Given the description of an element on the screen output the (x, y) to click on. 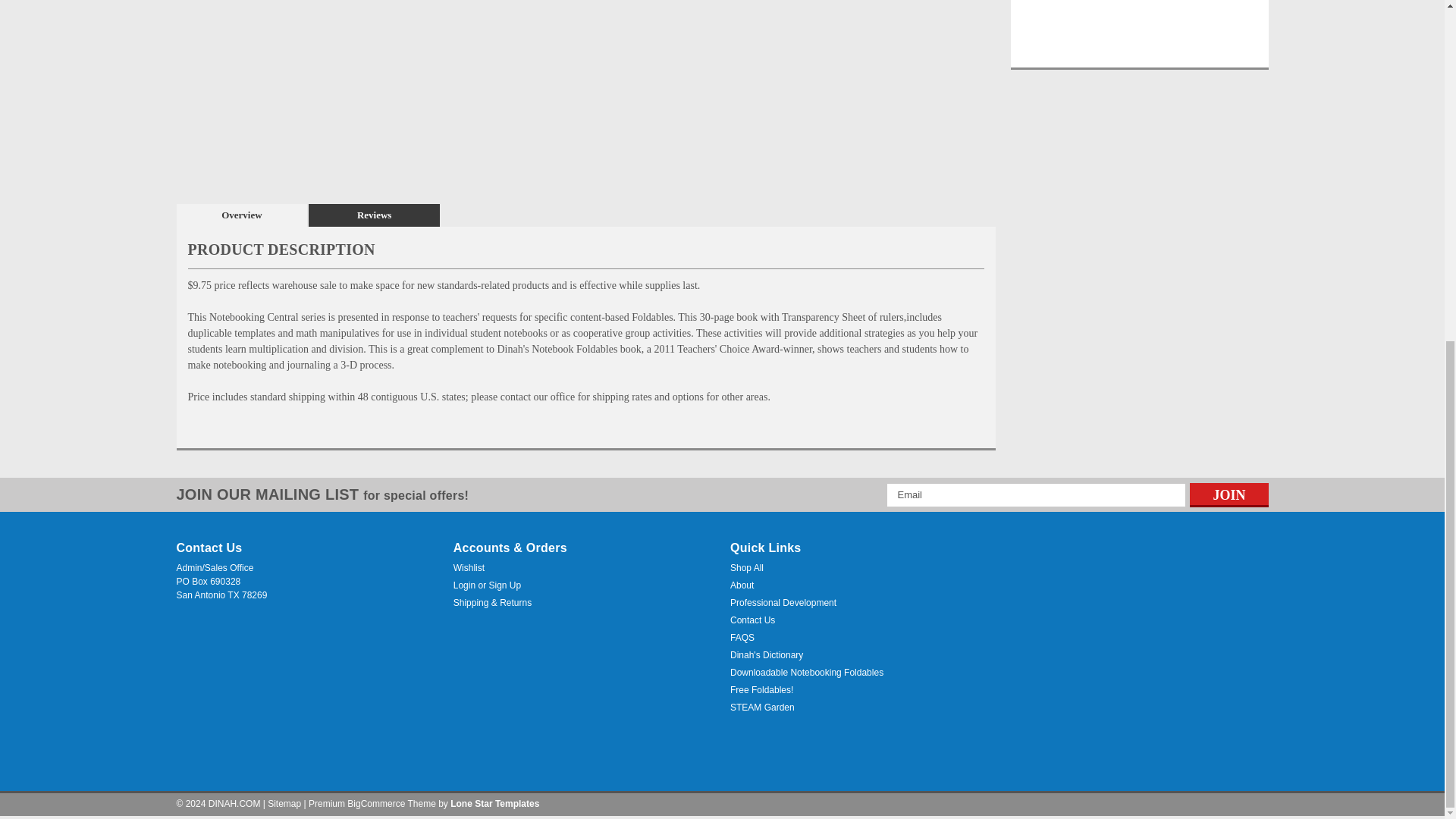
Join (1228, 494)
